Given the description of an element on the screen output the (x, y) to click on. 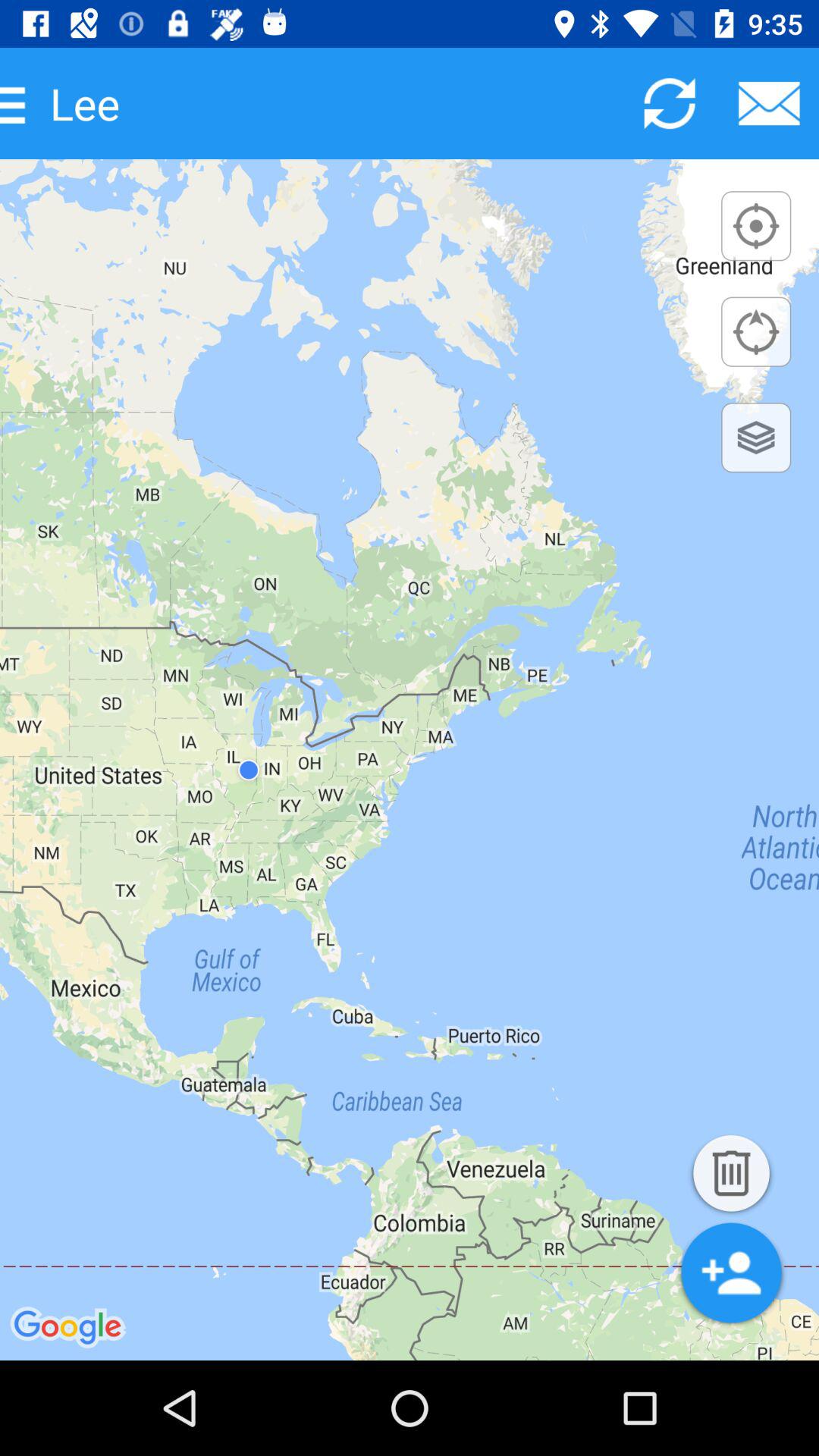
refresh page (669, 103)
